Given the description of an element on the screen output the (x, y) to click on. 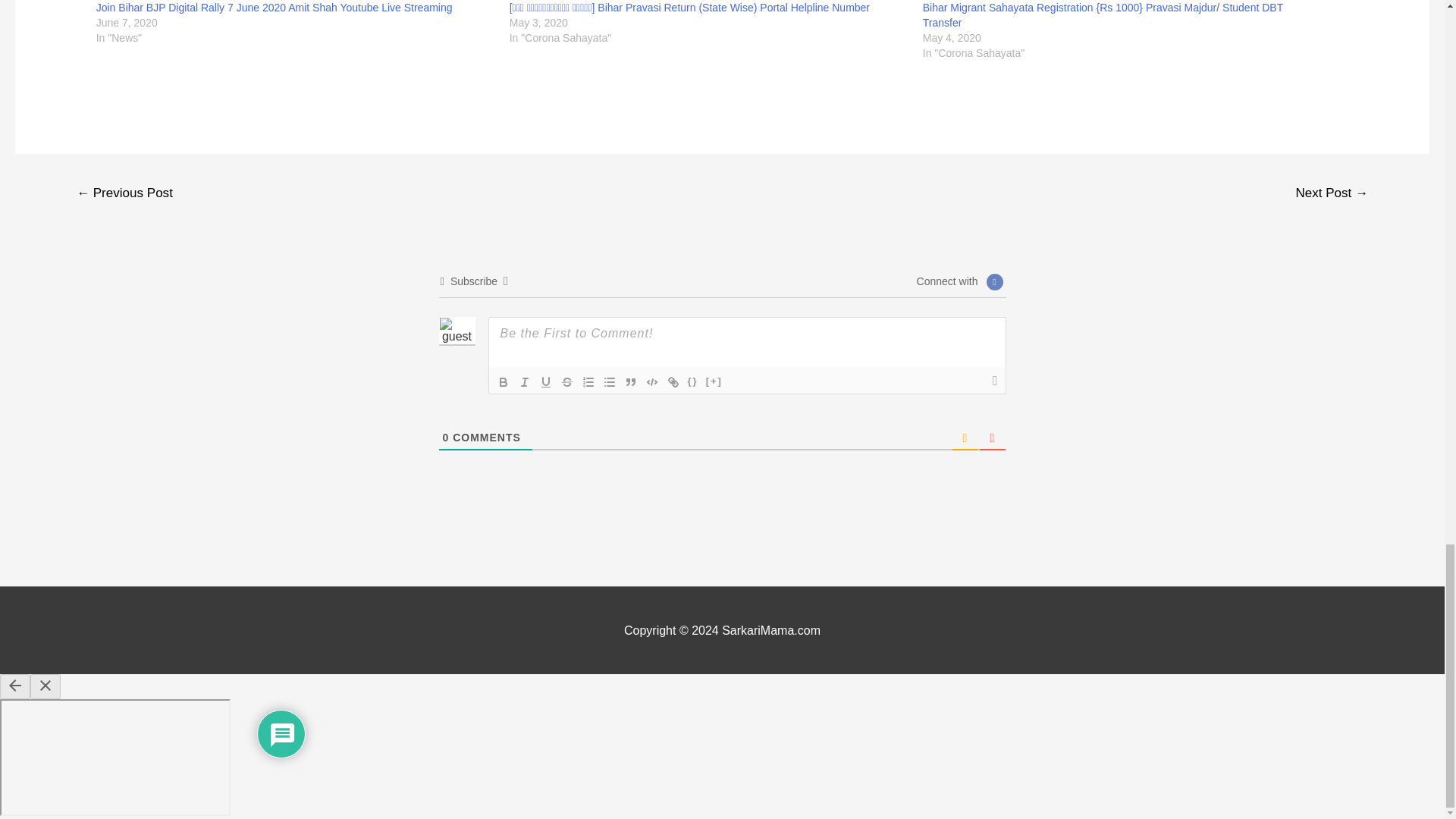
Underline (545, 382)
ordered (588, 382)
Italic (524, 382)
bullet (609, 382)
Ordered List (588, 382)
Bold (503, 382)
Strike (567, 382)
